Given the description of an element on the screen output the (x, y) to click on. 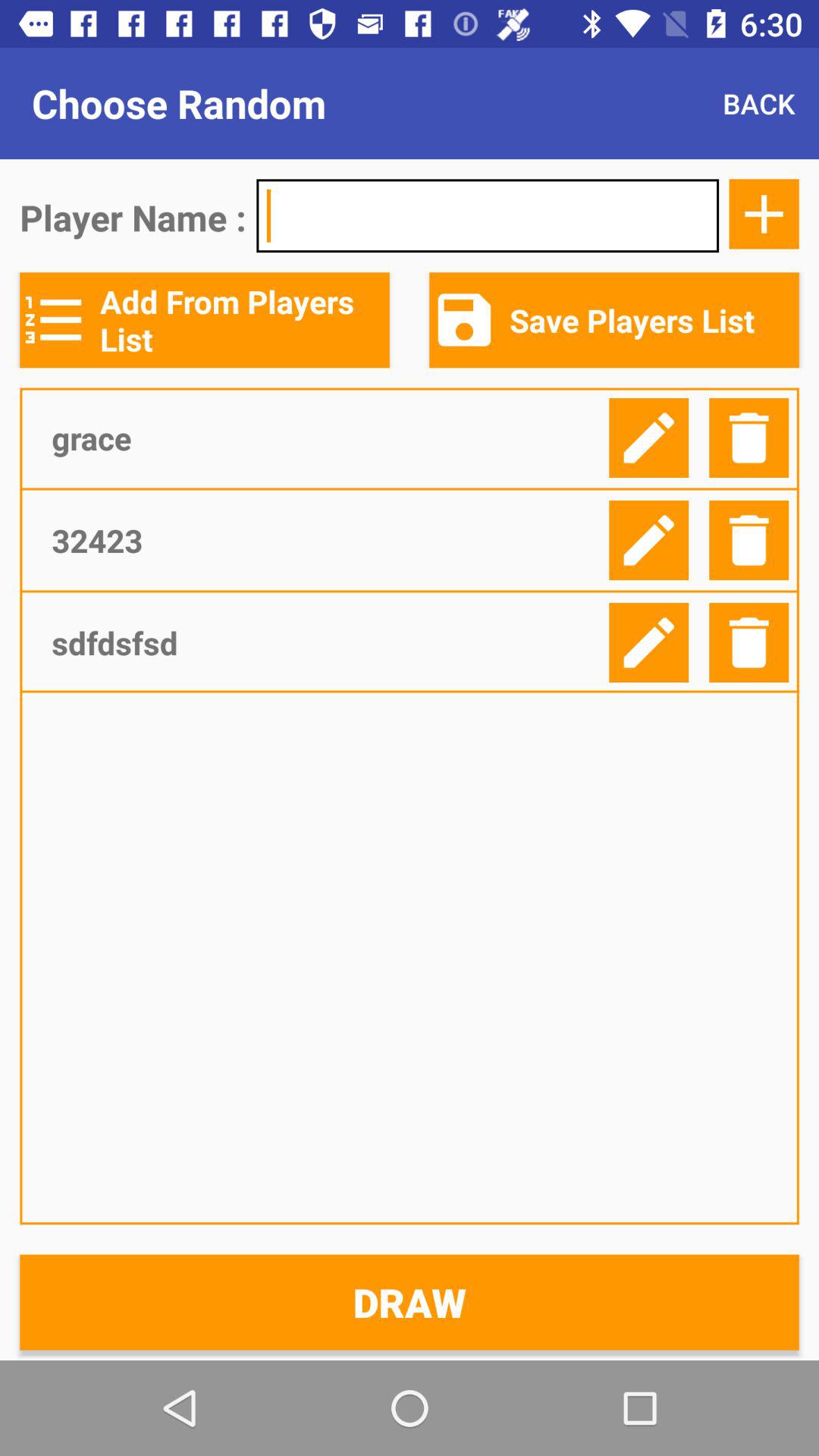
edit name (648, 437)
